Given the description of an element on the screen output the (x, y) to click on. 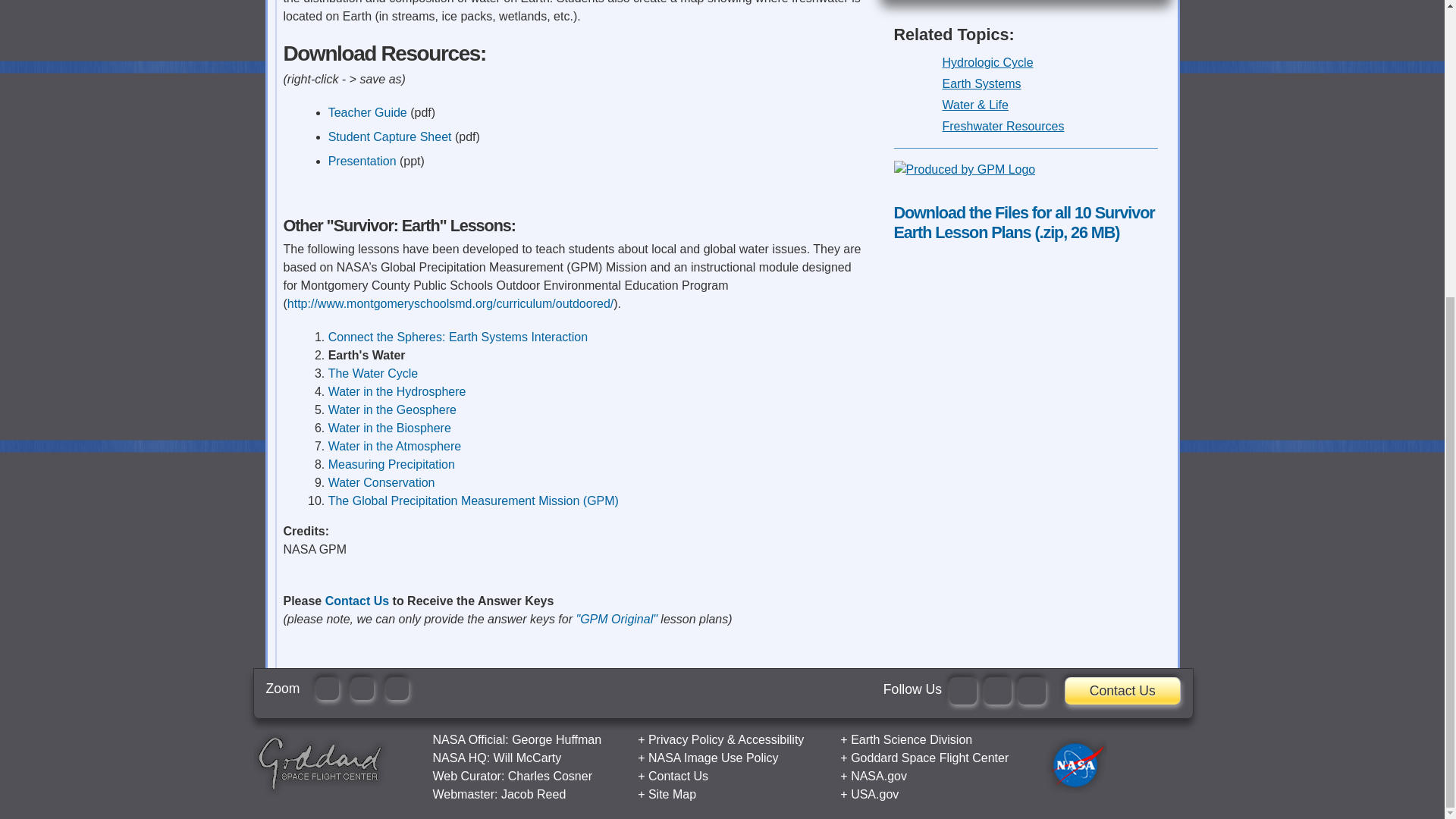
Water in the Geosphere (393, 409)
Student Capture Sheet (391, 136)
Water Conservation (382, 481)
Watch us on Youtube (1031, 690)
Presentation (362, 160)
Follow us on Facebook (962, 690)
Teacher Guide (369, 112)
Water in the Atmosphere (395, 445)
Follow us on Twitter (997, 690)
Measuring Precipitation (391, 463)
